Given the description of an element on the screen output the (x, y) to click on. 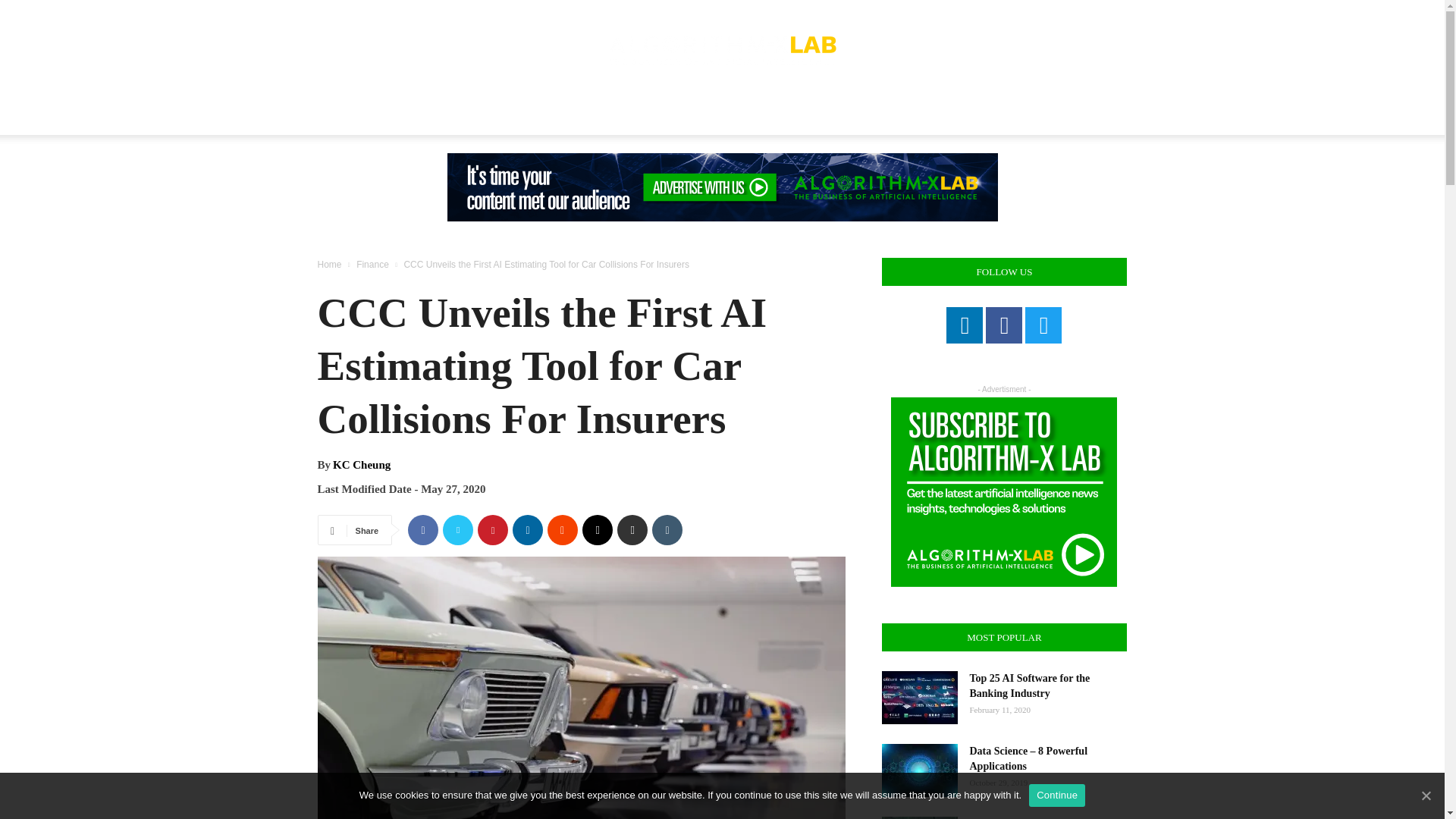
Algorithm-X LAB - The Business of Artificial Intelligence (721, 50)
